Given the description of an element on the screen output the (x, y) to click on. 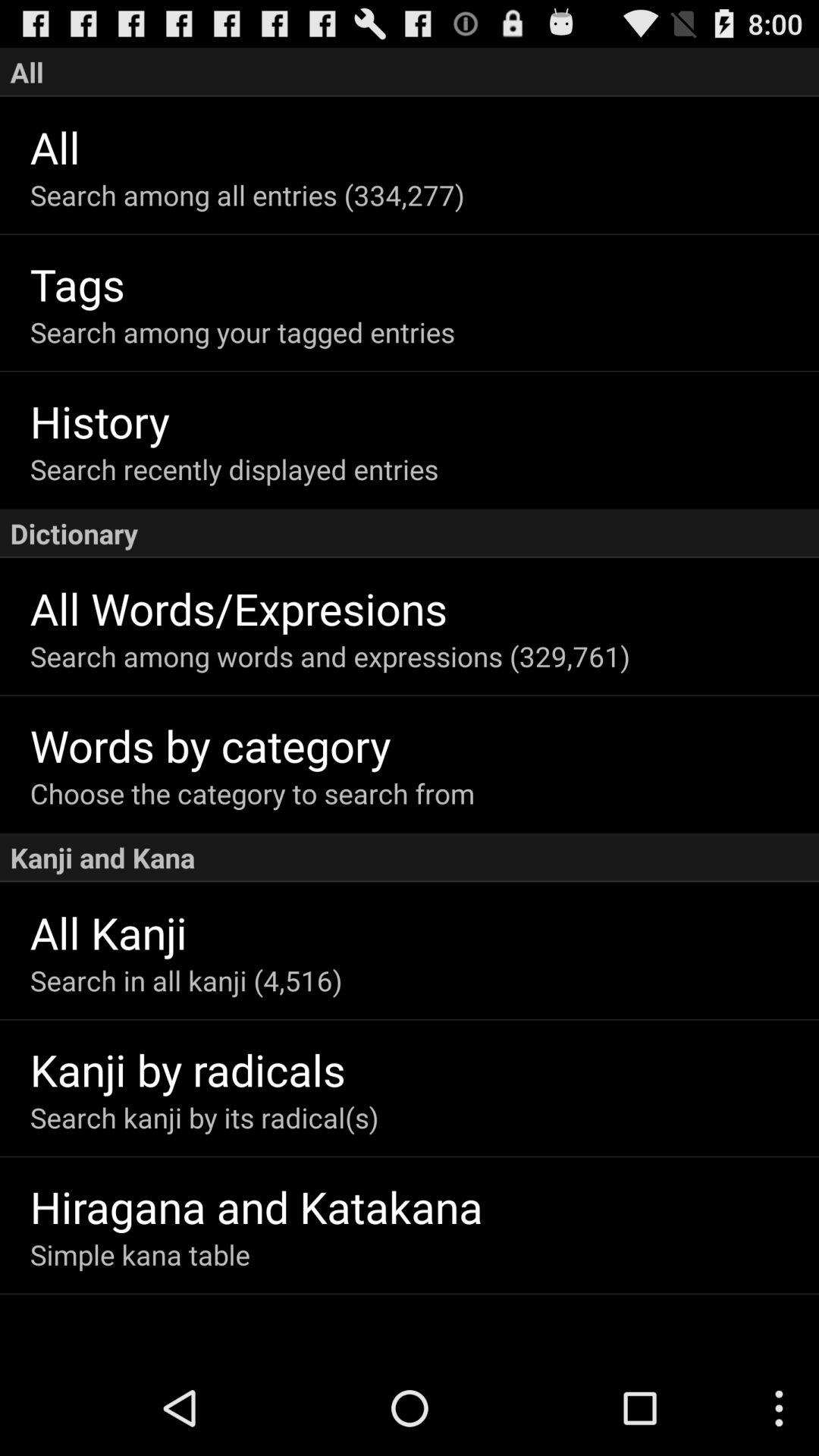
launch icon below the search among words app (424, 745)
